Given the description of an element on the screen output the (x, y) to click on. 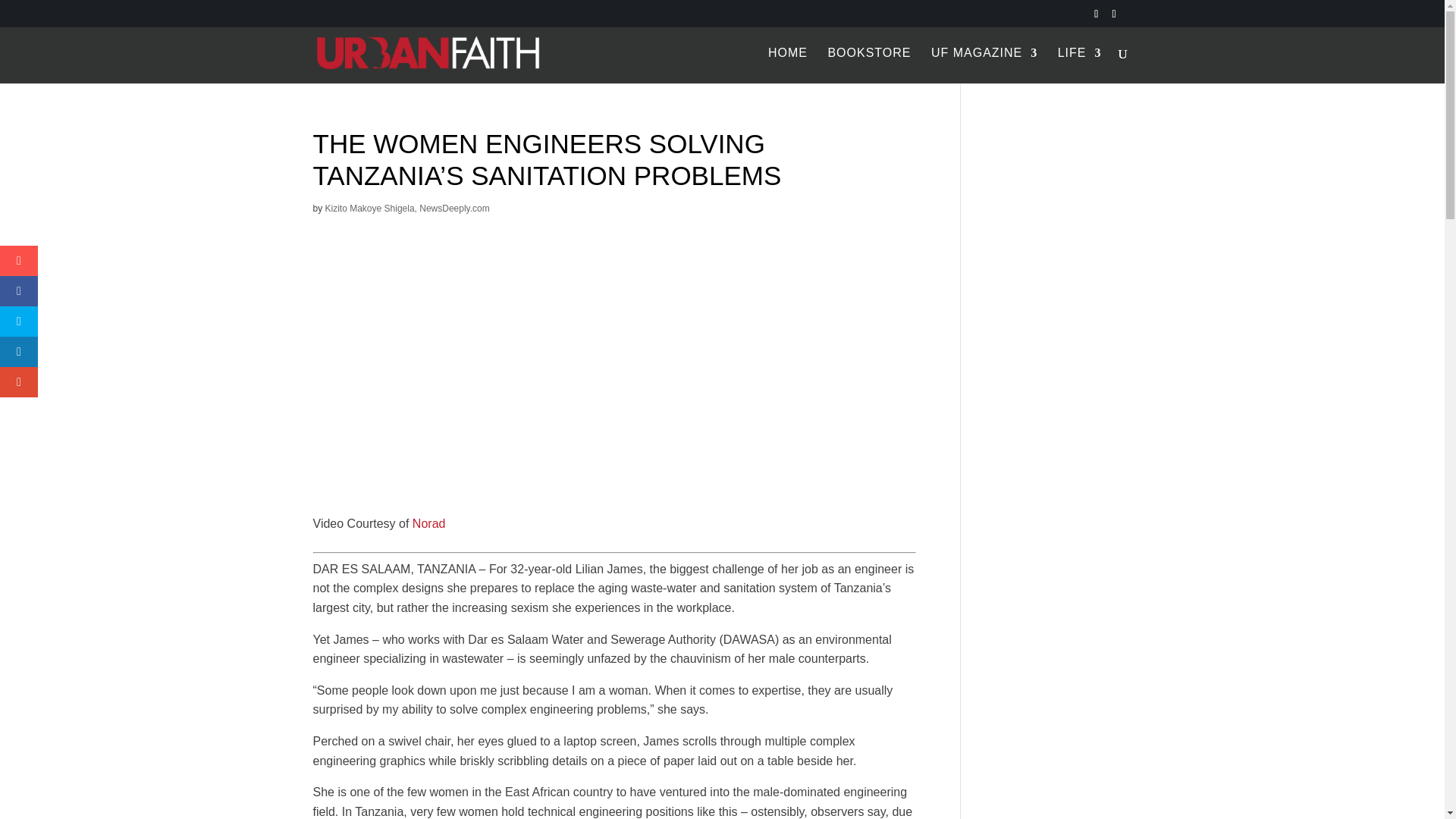
Posts by Kizito Makoye Shigela, NewsDeeply.com (406, 208)
UF MAGAZINE (983, 65)
BOOKSTORE (869, 65)
Kizito Makoye Shigela, NewsDeeply.com (406, 208)
Norad (428, 522)
HOME (788, 65)
LIFE (1080, 65)
